Given the description of an element on the screen output the (x, y) to click on. 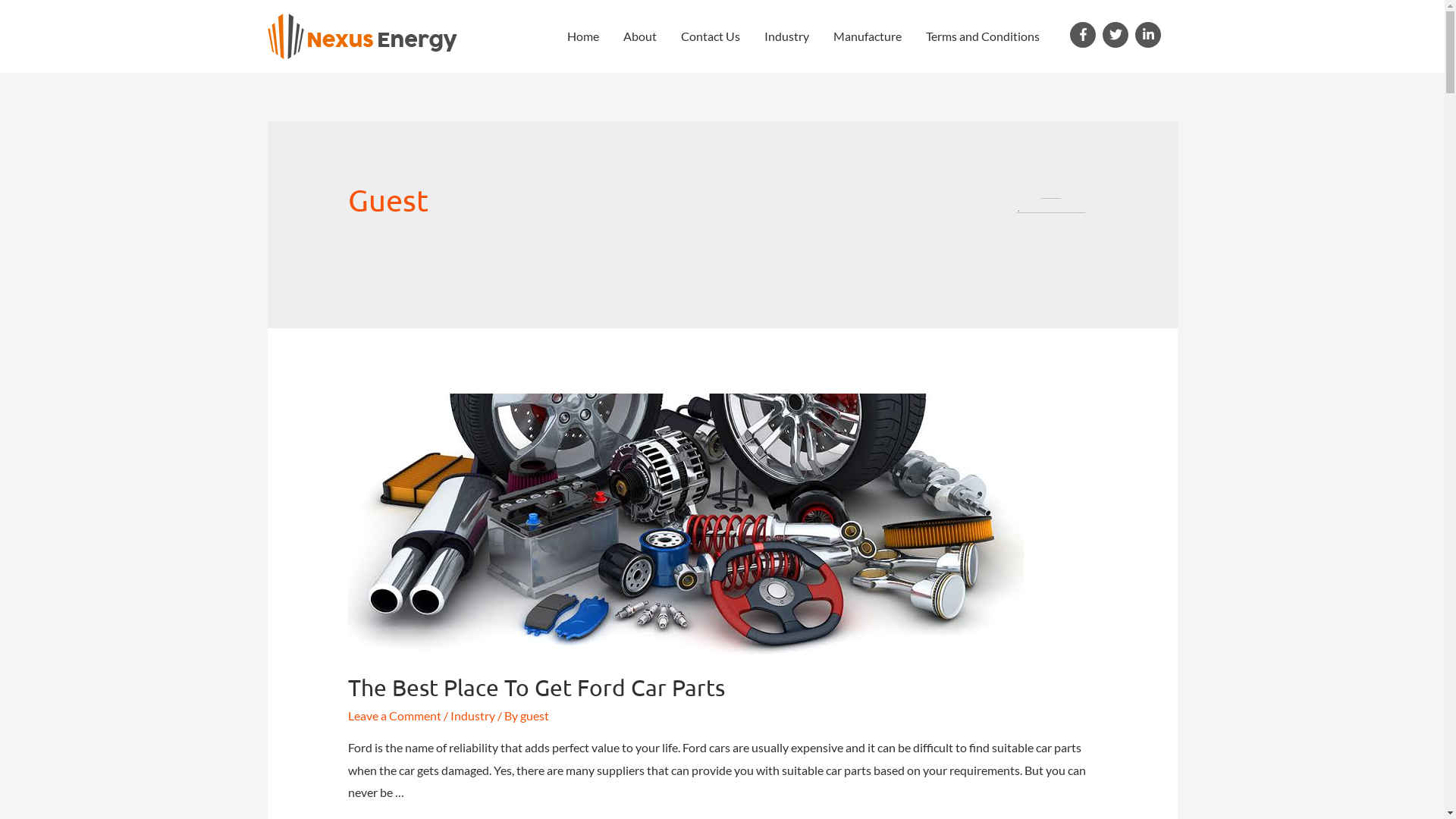
Industry Element type: text (786, 36)
Leave a Comment Element type: text (394, 715)
Terms and Conditions Element type: text (982, 36)
Industry Element type: text (472, 715)
Contact Us Element type: text (710, 36)
Manufacture Element type: text (867, 36)
guest Element type: text (534, 715)
About Element type: text (639, 36)
Home Element type: text (583, 36)
The Best Place To Get Ford Car Parts Element type: text (536, 687)
